Given the description of an element on the screen output the (x, y) to click on. 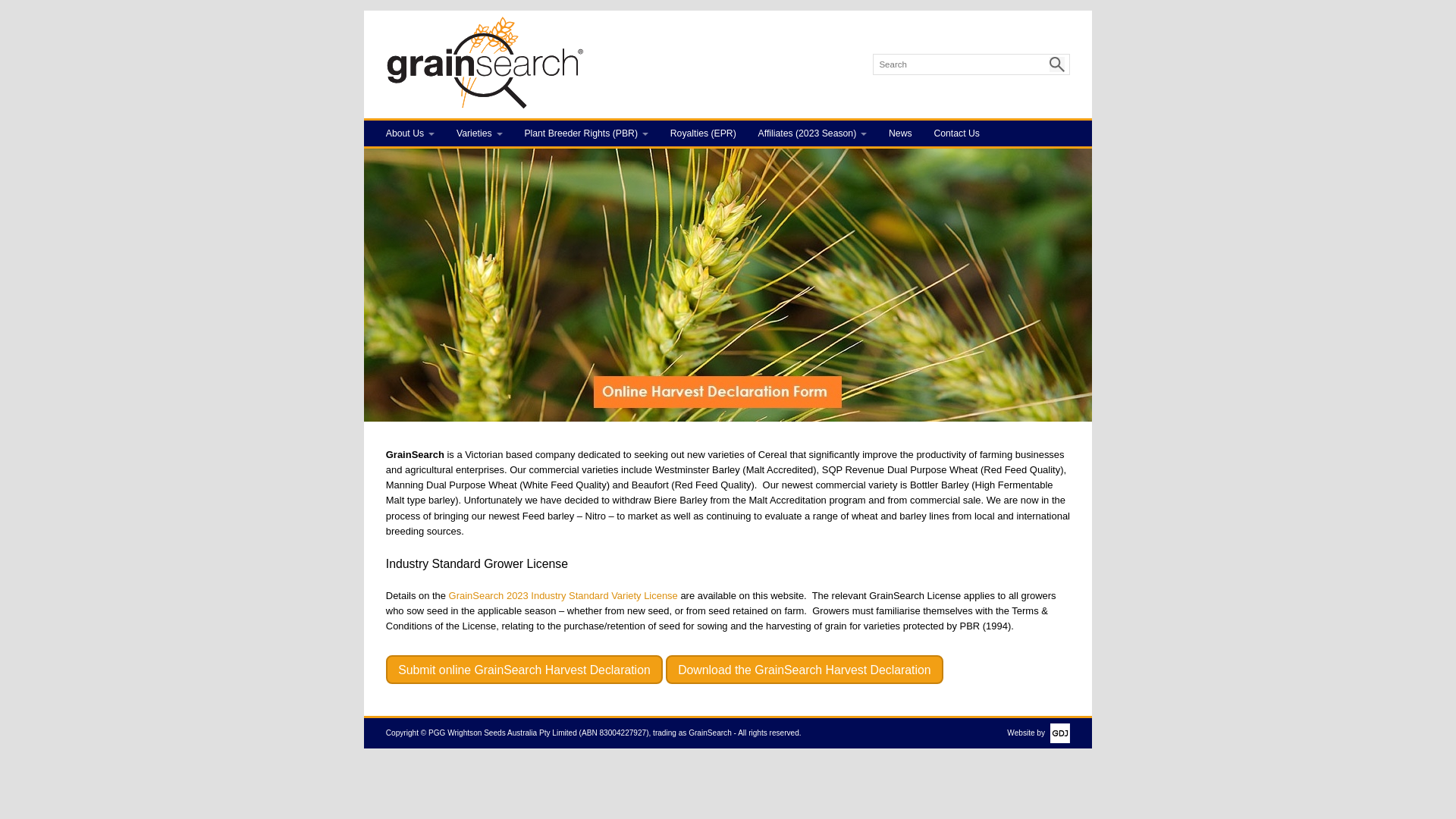
GrainSearch 2023 Industry Standard Variety License Element type: text (564, 595)
Contact Us Element type: text (956, 133)
Submit online GrainSearch Harvest Declaration Element type: text (523, 669)
Varieties Element type: text (479, 133)
Plant Breeder Rights (PBR) Element type: text (585, 133)
About Us Element type: text (409, 133)
Affiliates (2023 Season) Element type: text (811, 133)
Download the GrainSearch Harvest Declaration Element type: text (804, 669)
Royalties (EPR) Element type: text (702, 133)
GDJ Element type: text (1057, 733)
News Element type: text (900, 133)
